Given the description of an element on the screen output the (x, y) to click on. 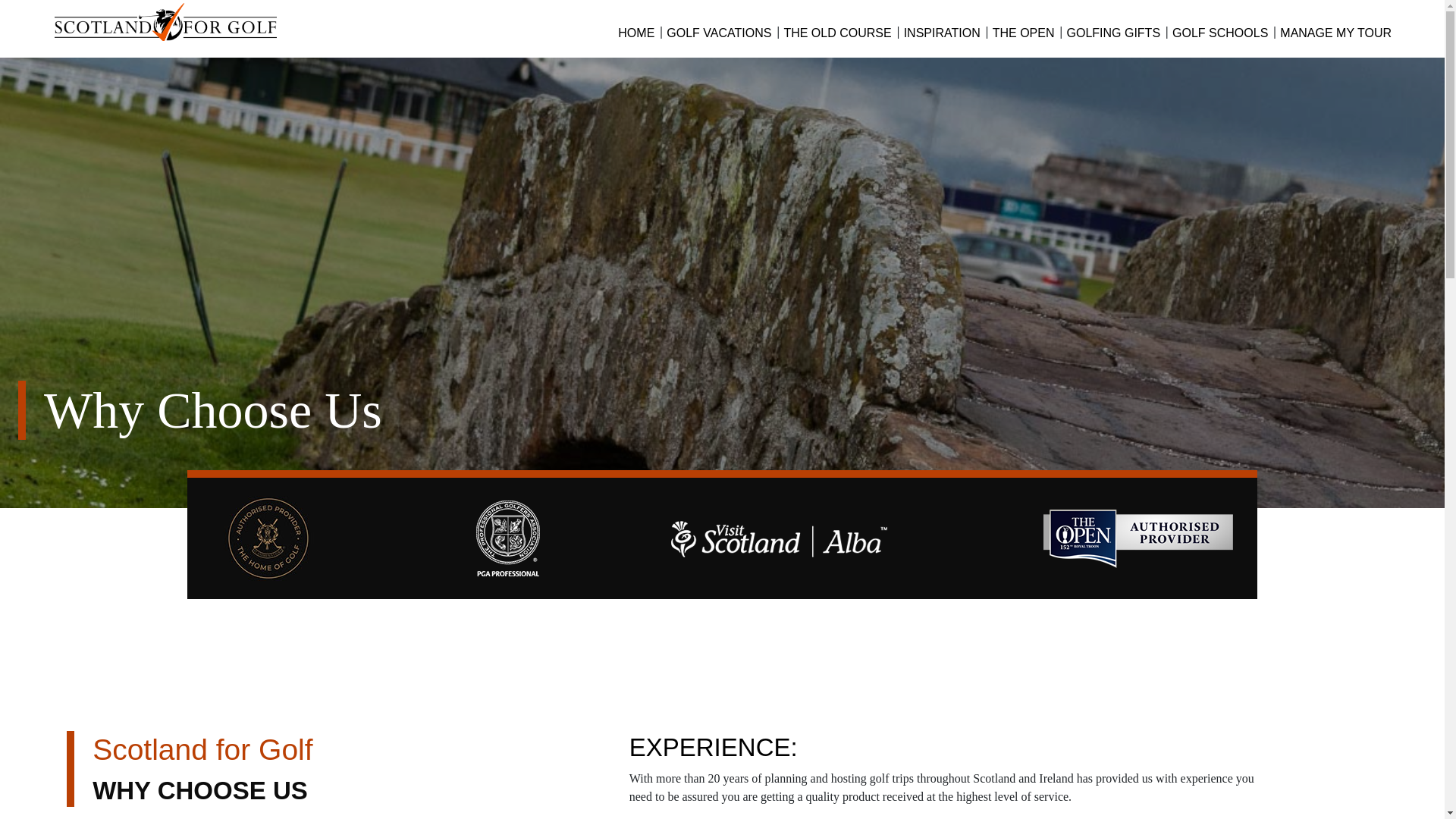
INSPIRATION (942, 33)
GOLF VACATIONS (719, 33)
THE OPEN (1024, 33)
GOLFING GIFTS (1112, 33)
GOLF SCHOOLS (1220, 33)
THE OLD COURSE (836, 33)
MANAGE MY TOUR (1335, 33)
Go To Homepage (142, 20)
HOME (636, 33)
